Given the description of an element on the screen output the (x, y) to click on. 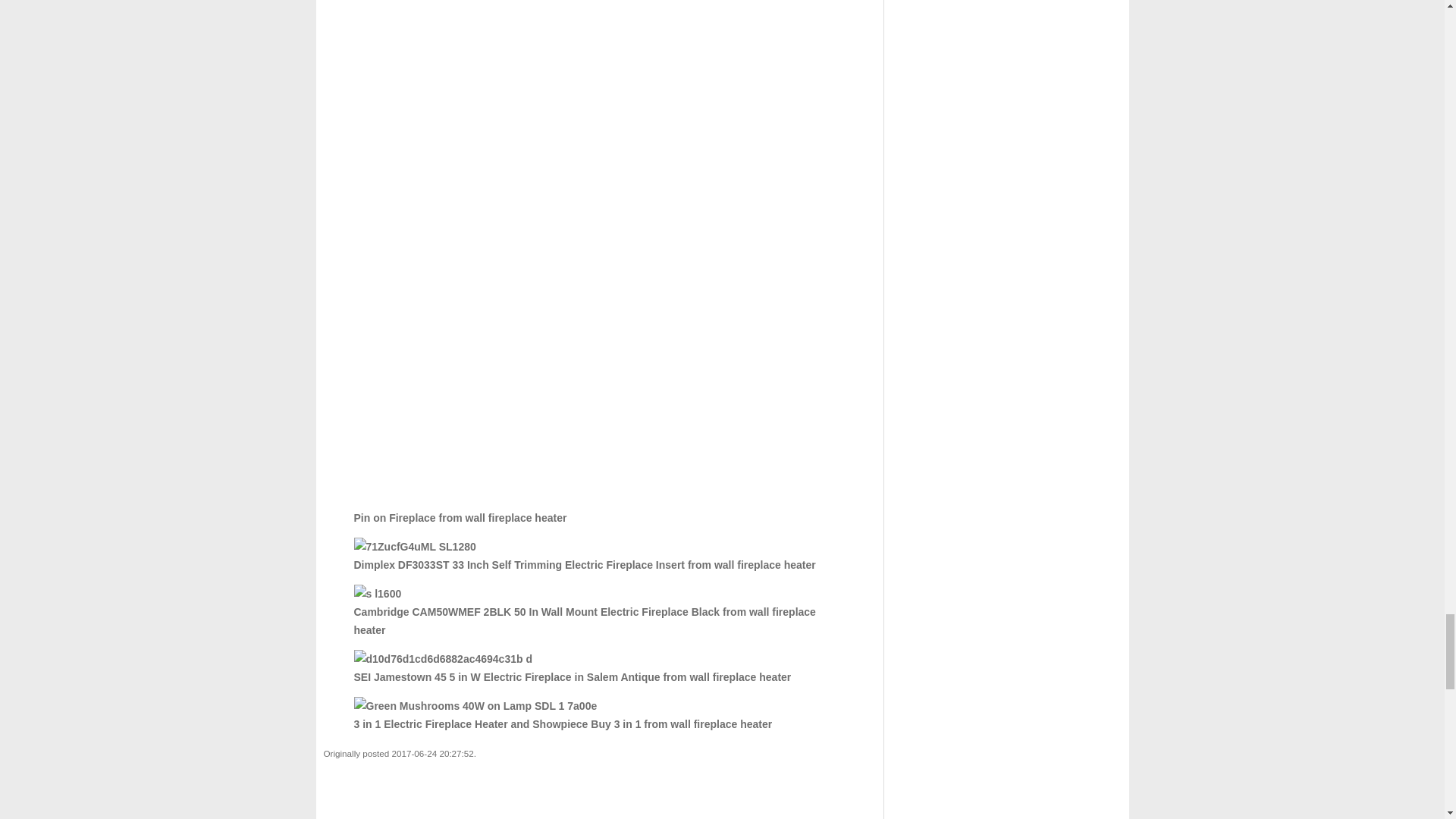
3 in 1 Electric Fireplace Heater and Showpiece Buy 3 in 1 (474, 705)
SEI Jamestown 45 5 in W Electric Fireplace in Salem Antique (442, 659)
